Given the description of an element on the screen output the (x, y) to click on. 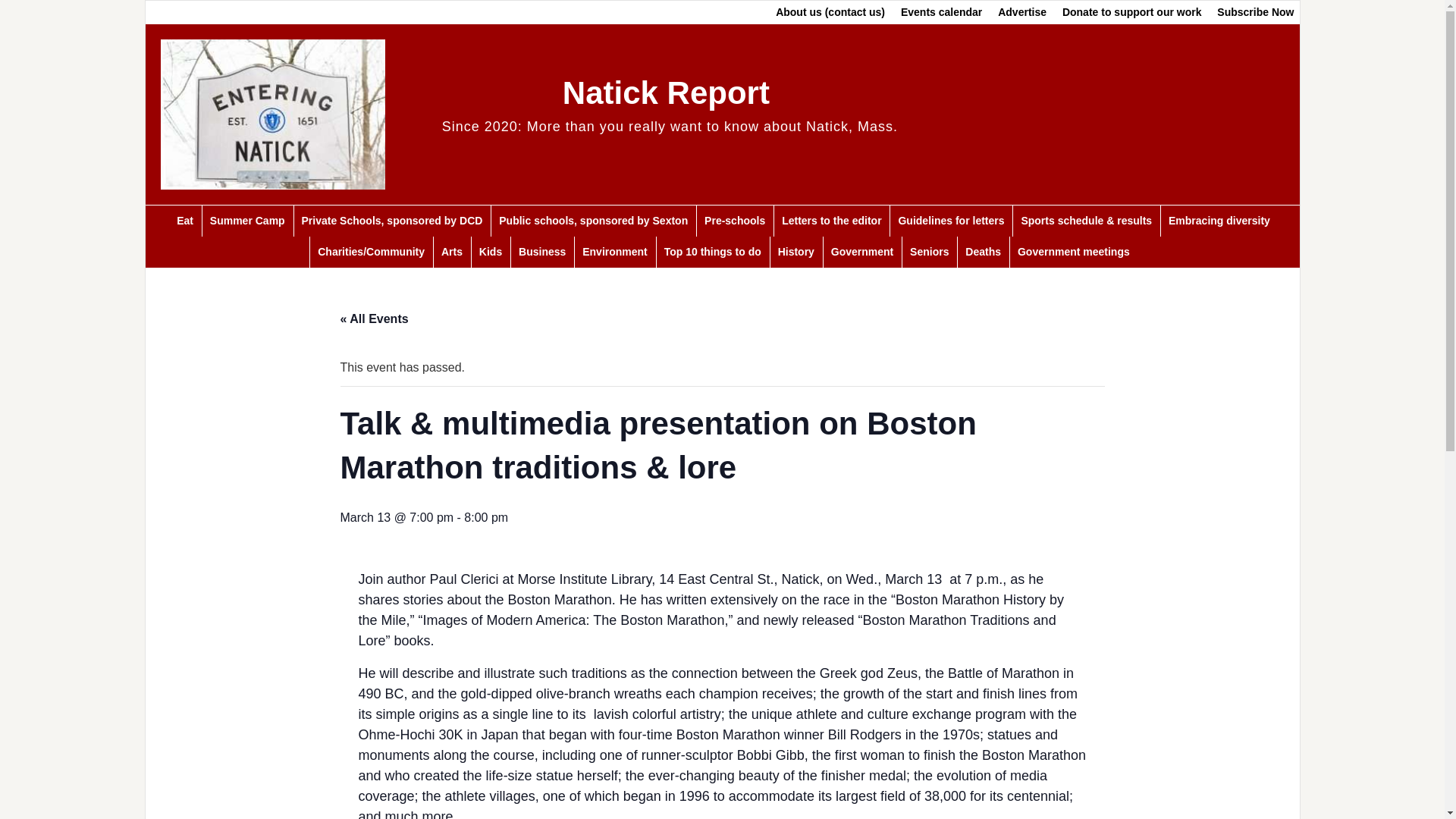
Pre-schools (734, 220)
Donate to support our work (1131, 12)
Subscribe Now (1255, 12)
Eat (184, 220)
Arts (451, 251)
Natick Report (666, 92)
Summer Camp (247, 220)
Environment (614, 251)
Public schools, sponsored by Sexton (592, 220)
Private Schools, sponsored by DCD (392, 220)
